Given the description of an element on the screen output the (x, y) to click on. 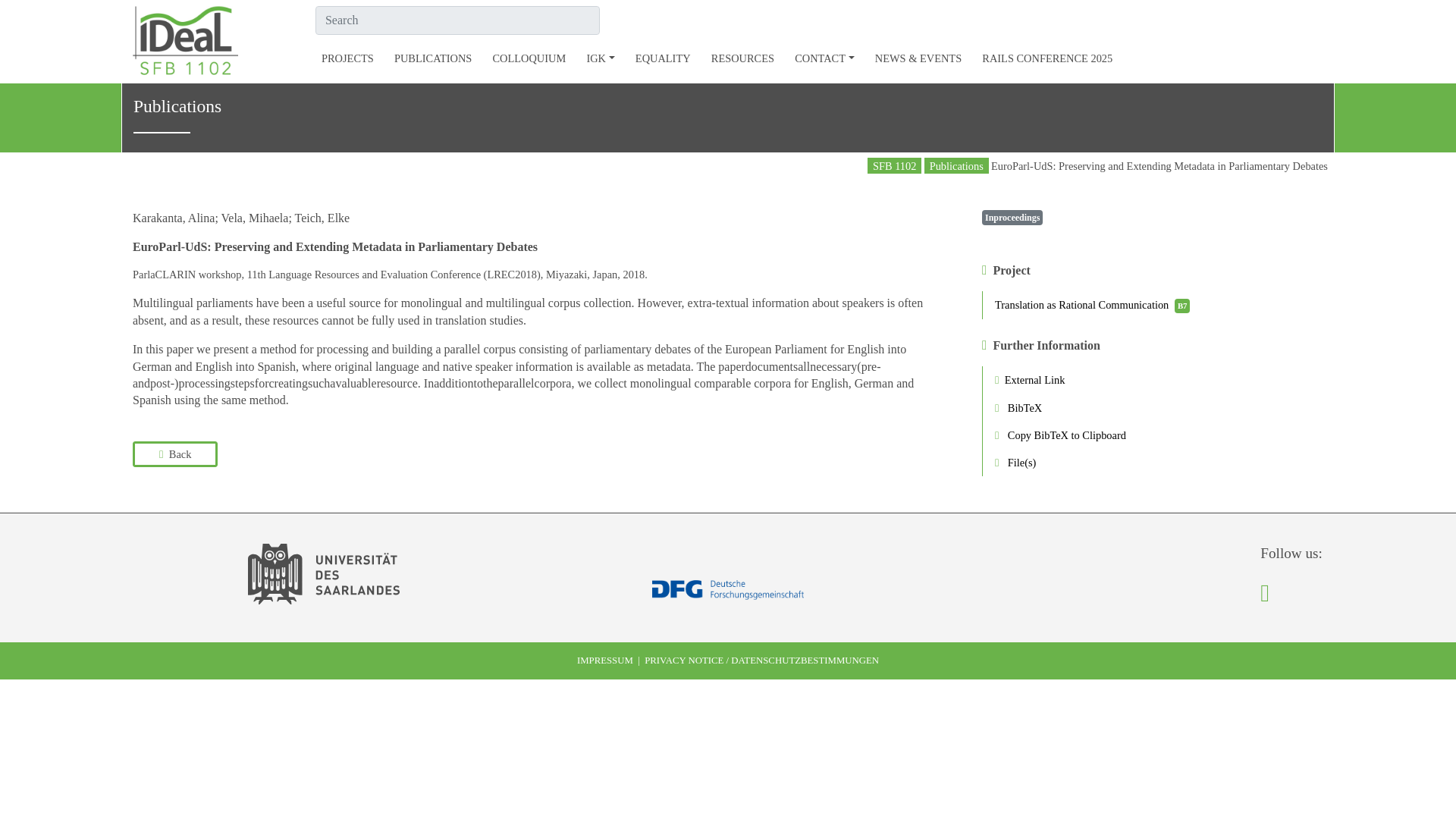
External Link (1152, 379)
Projects (347, 58)
IGK (599, 58)
Copy BibTeX to Clipboard (1152, 434)
Publications (432, 58)
Resources (742, 58)
IGK (599, 58)
EQUALITY (662, 58)
Equality (662, 58)
CONTACT (824, 58)
